Given the description of an element on the screen output the (x, y) to click on. 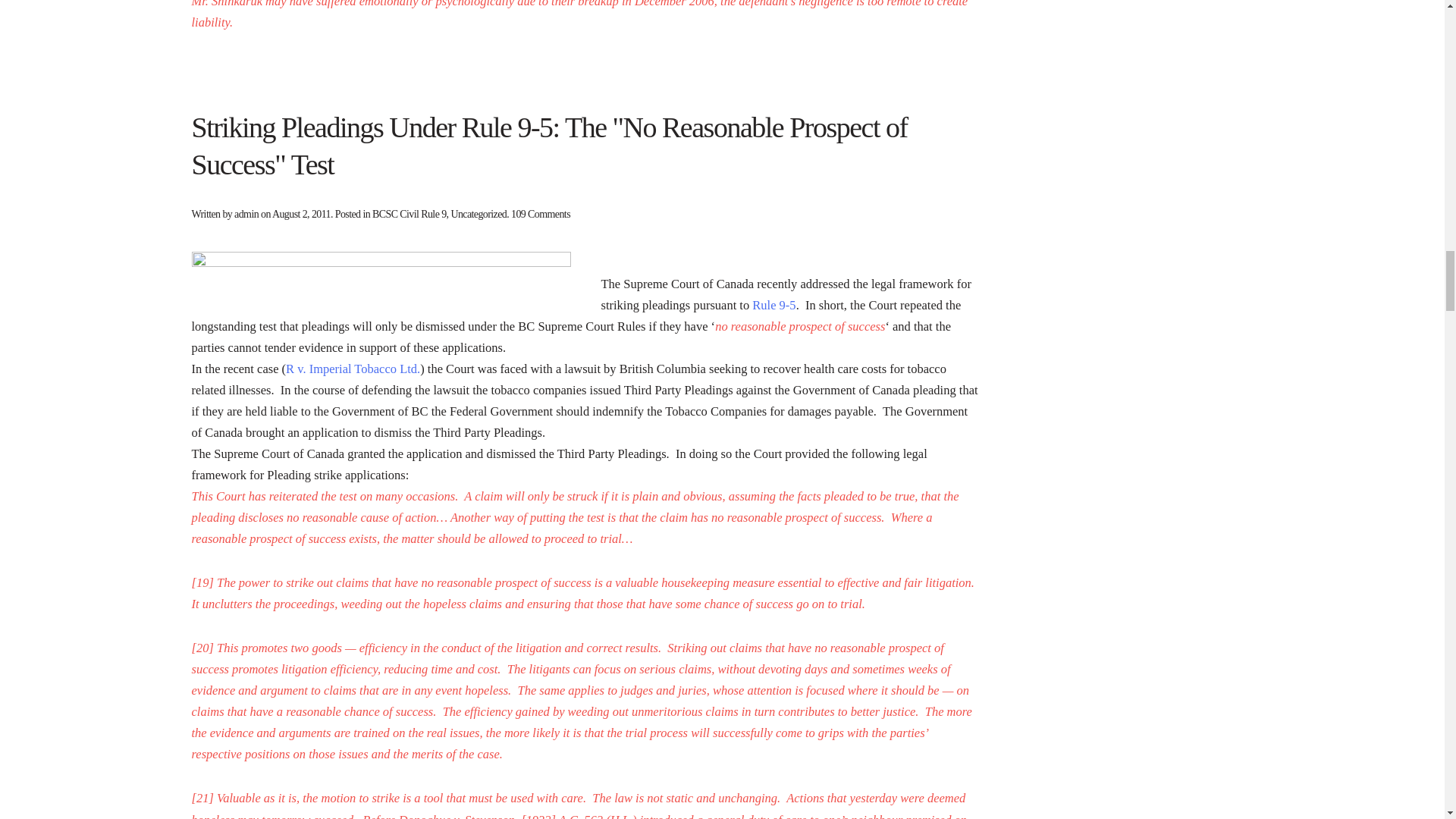
admin (246, 214)
BCSC Civil Rule 9 (409, 214)
Uncategorized (477, 214)
Rule 9-5 (773, 305)
bc-injury-law-supreme-court-of-canada-judgements (380, 282)
R v. Imperial Tobacco Ltd. (352, 368)
